Given the description of an element on the screen output the (x, y) to click on. 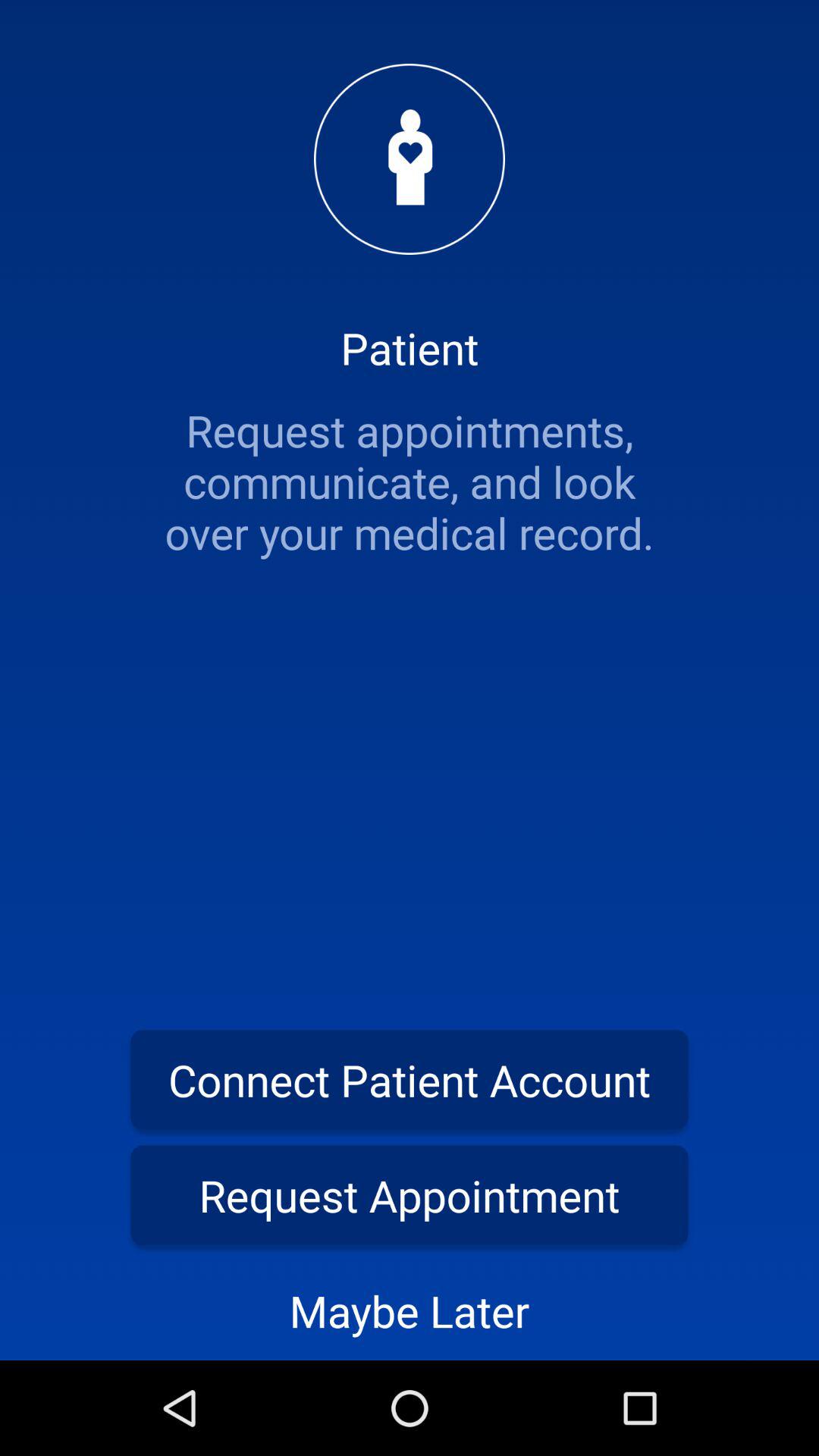
select icon below request appointment item (409, 1310)
